Given the description of an element on the screen output the (x, y) to click on. 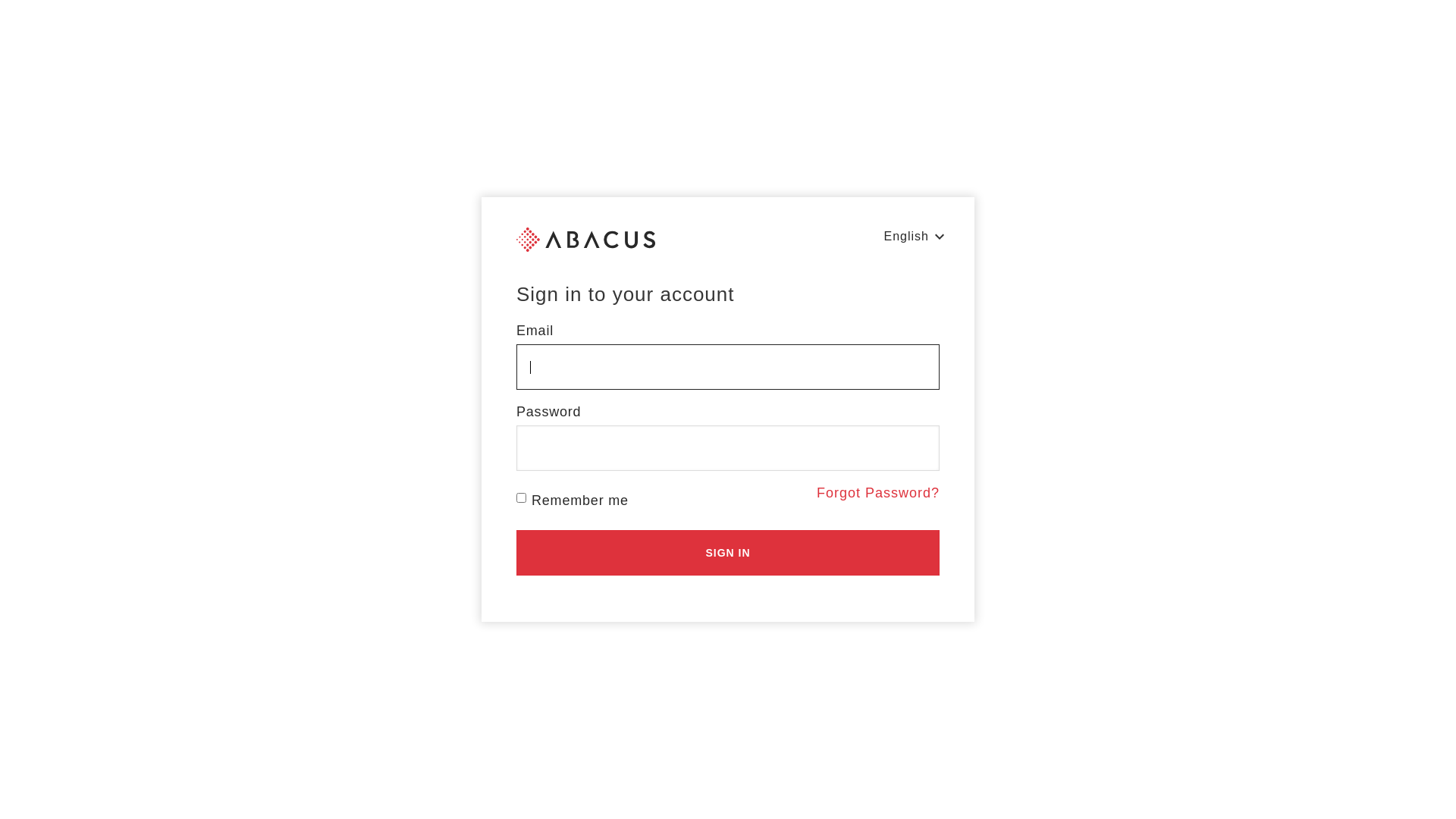
Forgot Password? Element type: text (877, 492)
Sign In Element type: text (727, 552)
English Element type: text (914, 236)
